Given the description of an element on the screen output the (x, y) to click on. 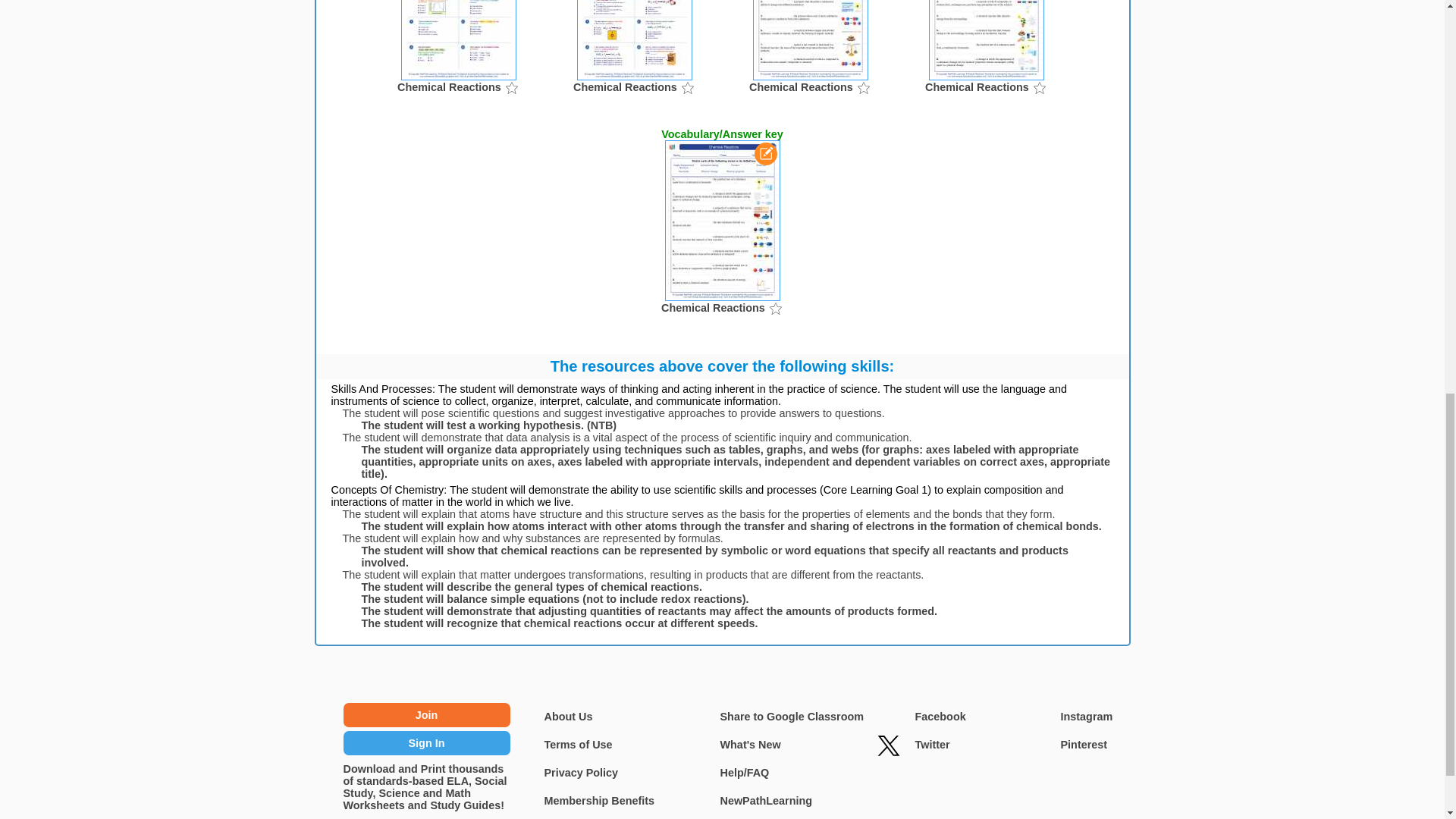
Download Chemical Reactions Chemistry Worksheet High School (457, 63)
Download Chemical Reactions Chemistry Worksheet High School (634, 63)
Add to My Collections... (511, 87)
Add to My Collections... (687, 87)
